Given the description of an element on the screen output the (x, y) to click on. 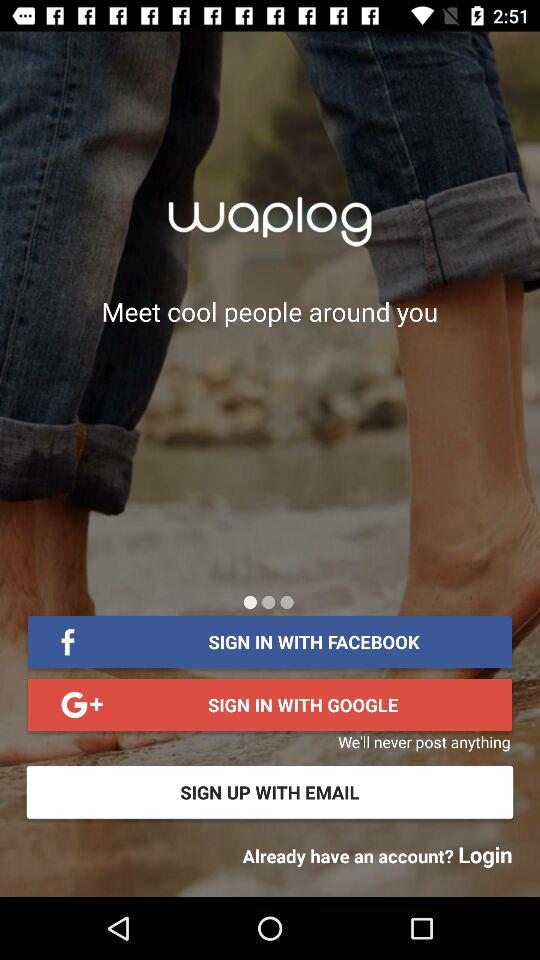
press the icon above the sign in with (249, 601)
